Given the description of an element on the screen output the (x, y) to click on. 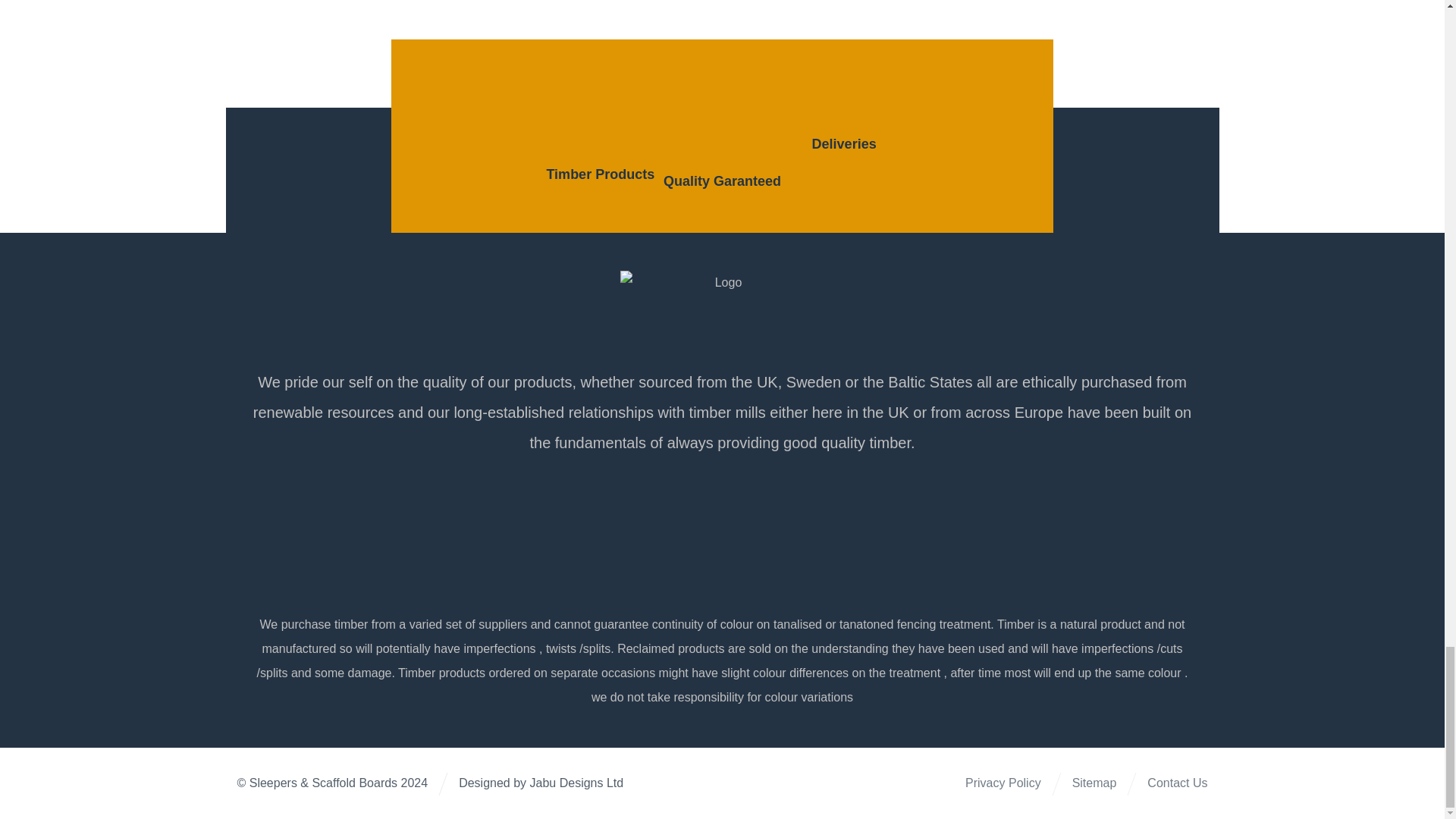
timber-products (599, 114)
quality-timber-products (721, 117)
timber-delivery (844, 99)
